Given the description of an element on the screen output the (x, y) to click on. 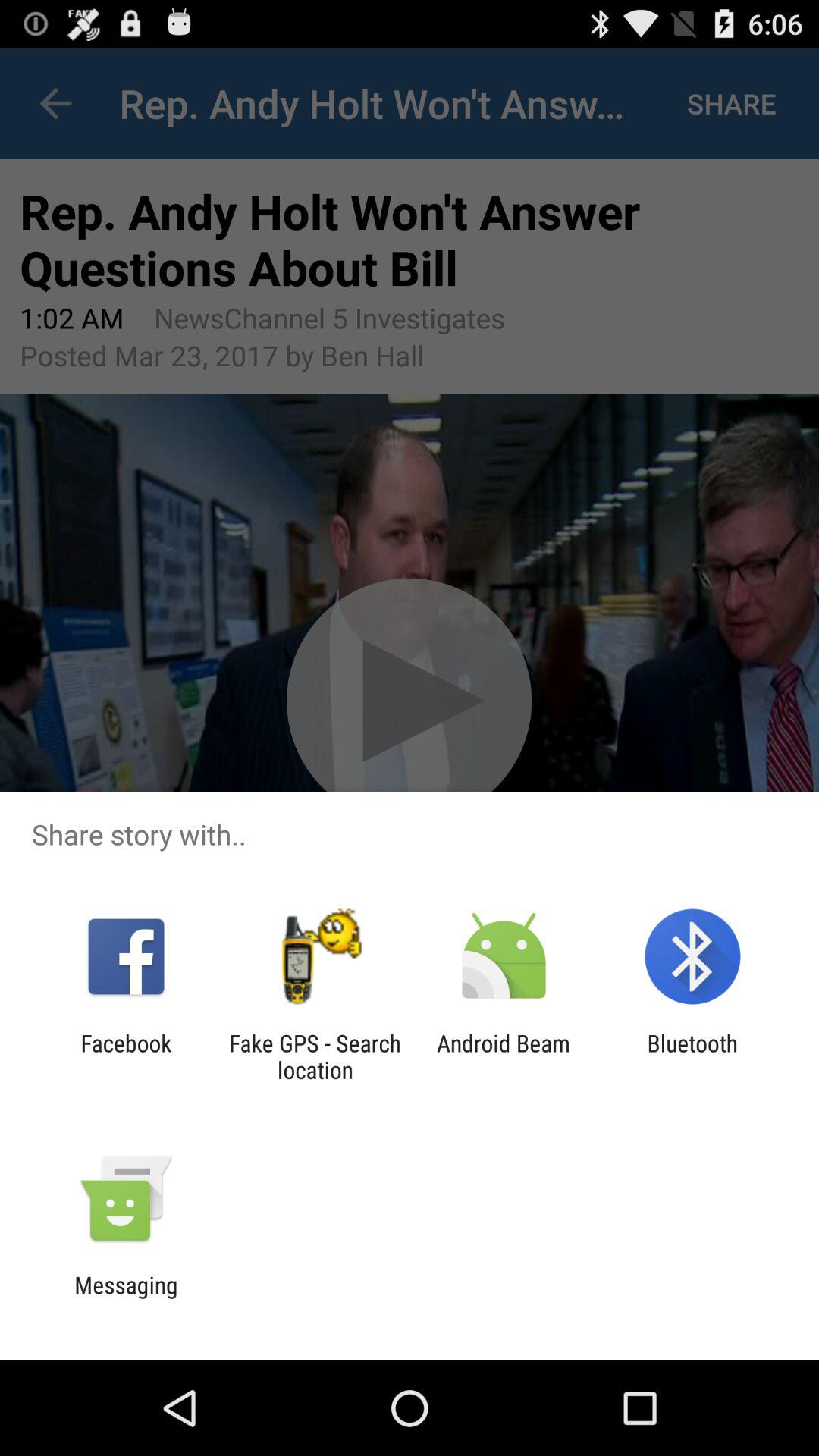
choose the messaging icon (126, 1298)
